Given the description of an element on the screen output the (x, y) to click on. 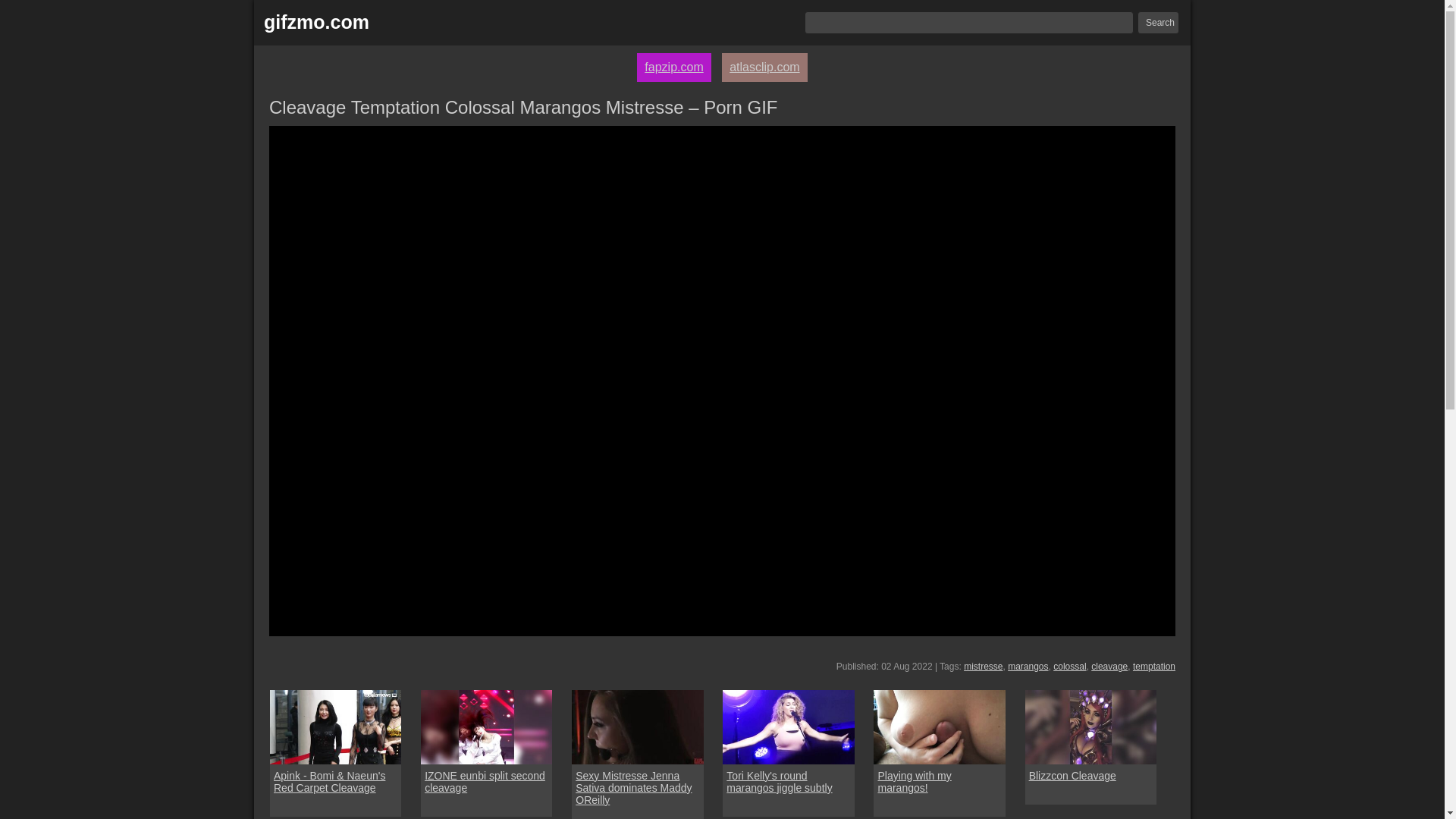
Playing with my marangos! (939, 781)
Tori Kelly's round marangos jiggle subtly (787, 726)
Sexy Mistresse Jenna Sativa dominates Maddy OReilly (637, 726)
Blizzcon Cleavage (1090, 726)
cleavage (1108, 665)
gifzmo.com (316, 22)
mistresse (983, 665)
Sexy Mistresse Jenna Sativa dominates Maddy OReilly (636, 787)
IZONE eunbi split second cleavage (485, 726)
fapzip.com (673, 67)
Blizzcon Cleavage (1072, 775)
Sexy Mistresse Jenna Sativa dominates Maddy OReilly (636, 787)
marangos (1027, 665)
fapzip.com (673, 67)
Tori Kelly's round marangos jiggle subtly (788, 781)
